Given the description of an element on the screen output the (x, y) to click on. 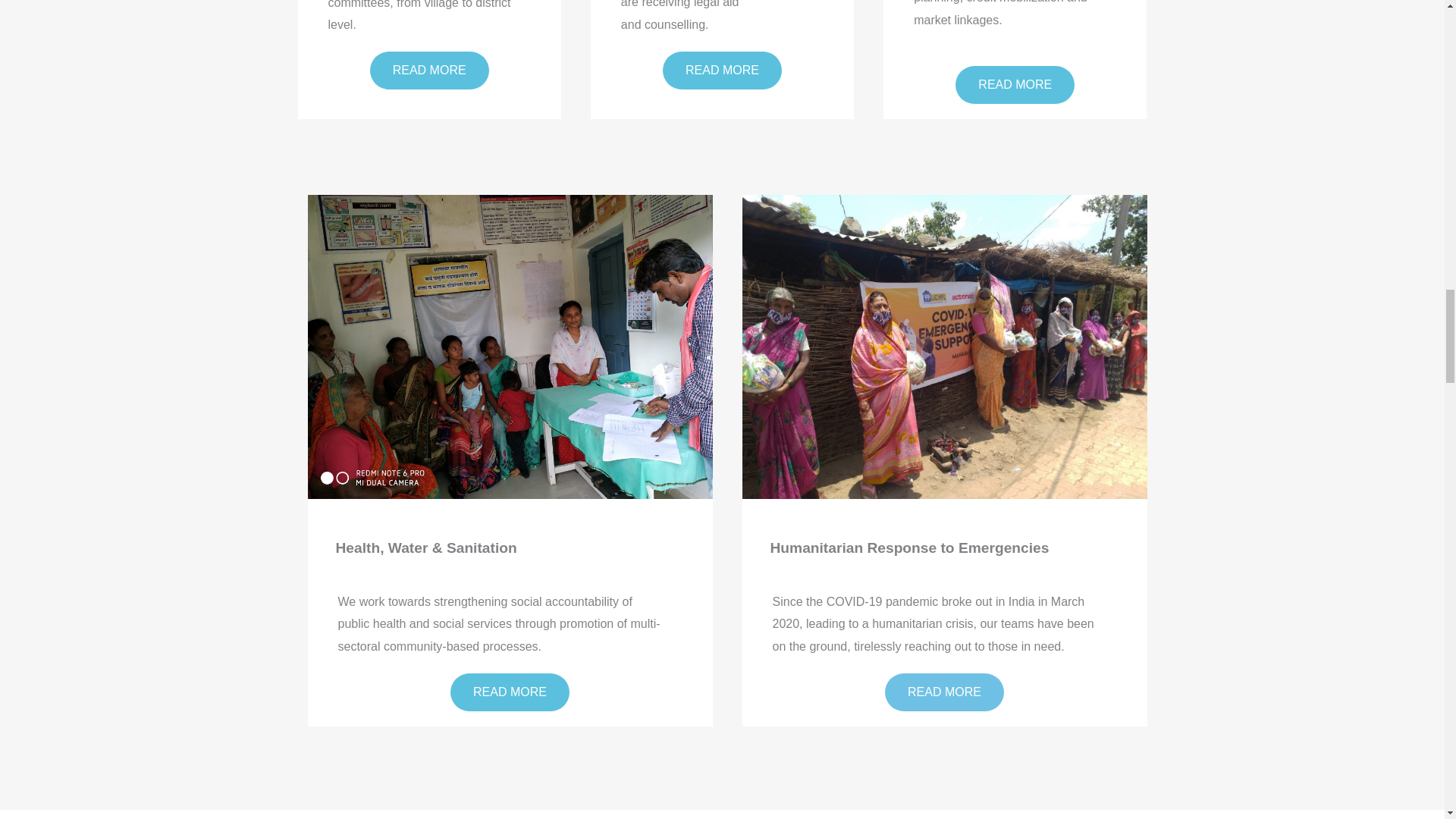
READ MORE (429, 70)
READ MORE (1014, 85)
READ MORE (509, 692)
READ MORE (721, 70)
READ MORE (944, 692)
